Given the description of an element on the screen output the (x, y) to click on. 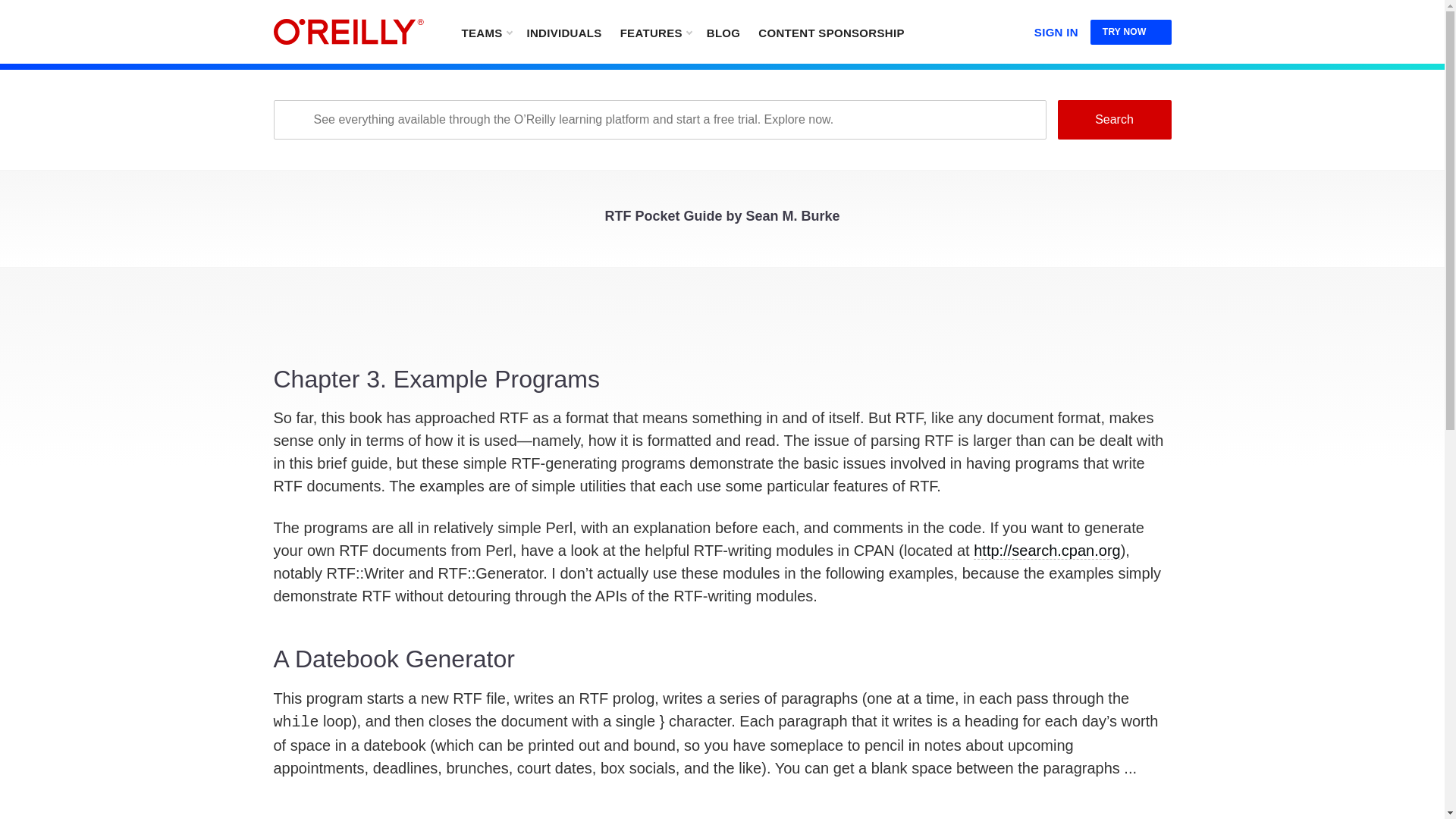
Search (1113, 119)
Search (1113, 119)
CONTENT SPONSORSHIP (831, 31)
INDIVIDUALS (563, 31)
Search (1113, 119)
BLOG (723, 31)
FEATURES (655, 31)
SIGN IN (1055, 29)
RTF Pocket Guide by Sean M. Burke (722, 219)
